Given the description of an element on the screen output the (x, y) to click on. 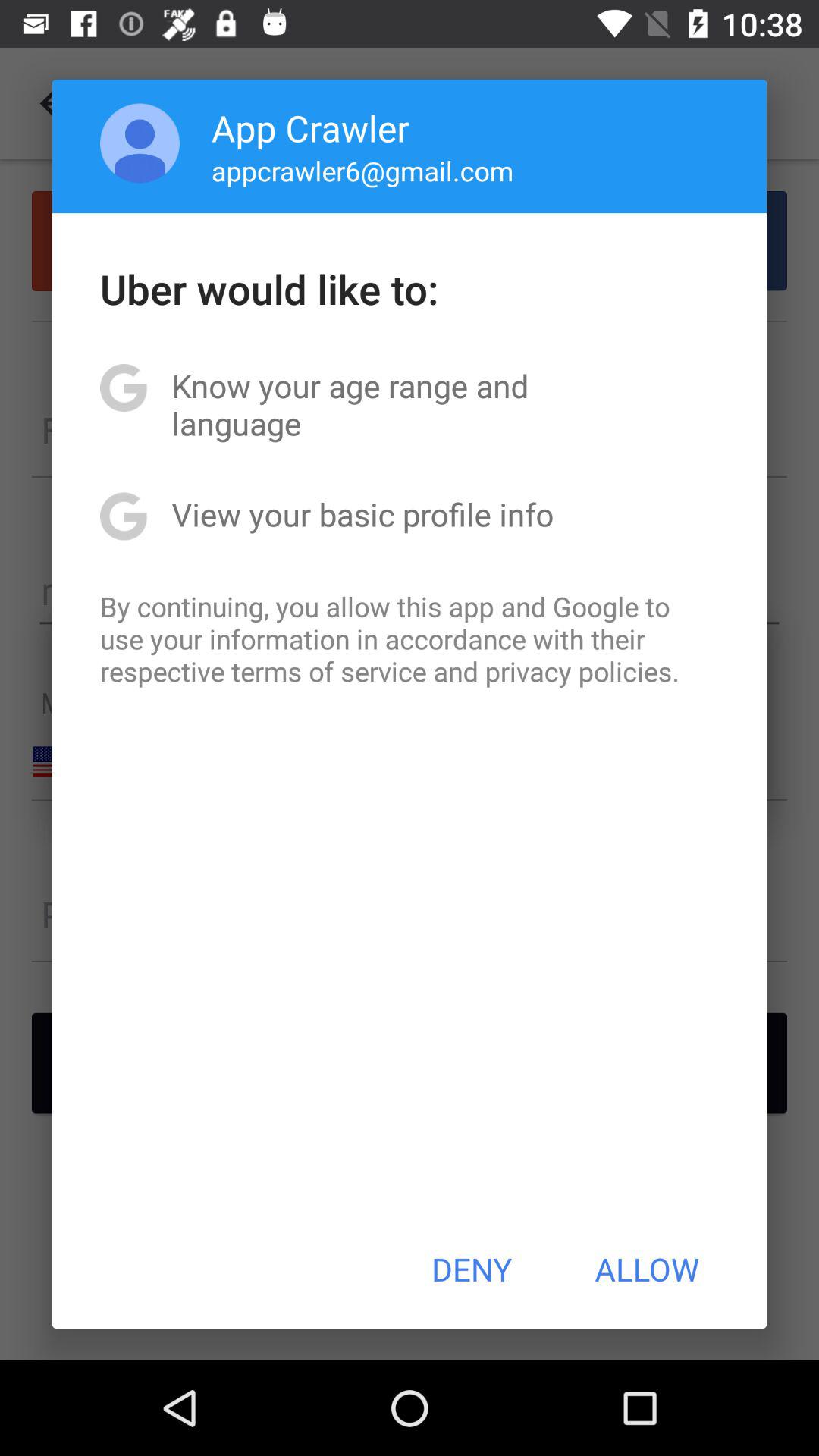
tap icon next to allow button (471, 1268)
